Given the description of an element on the screen output the (x, y) to click on. 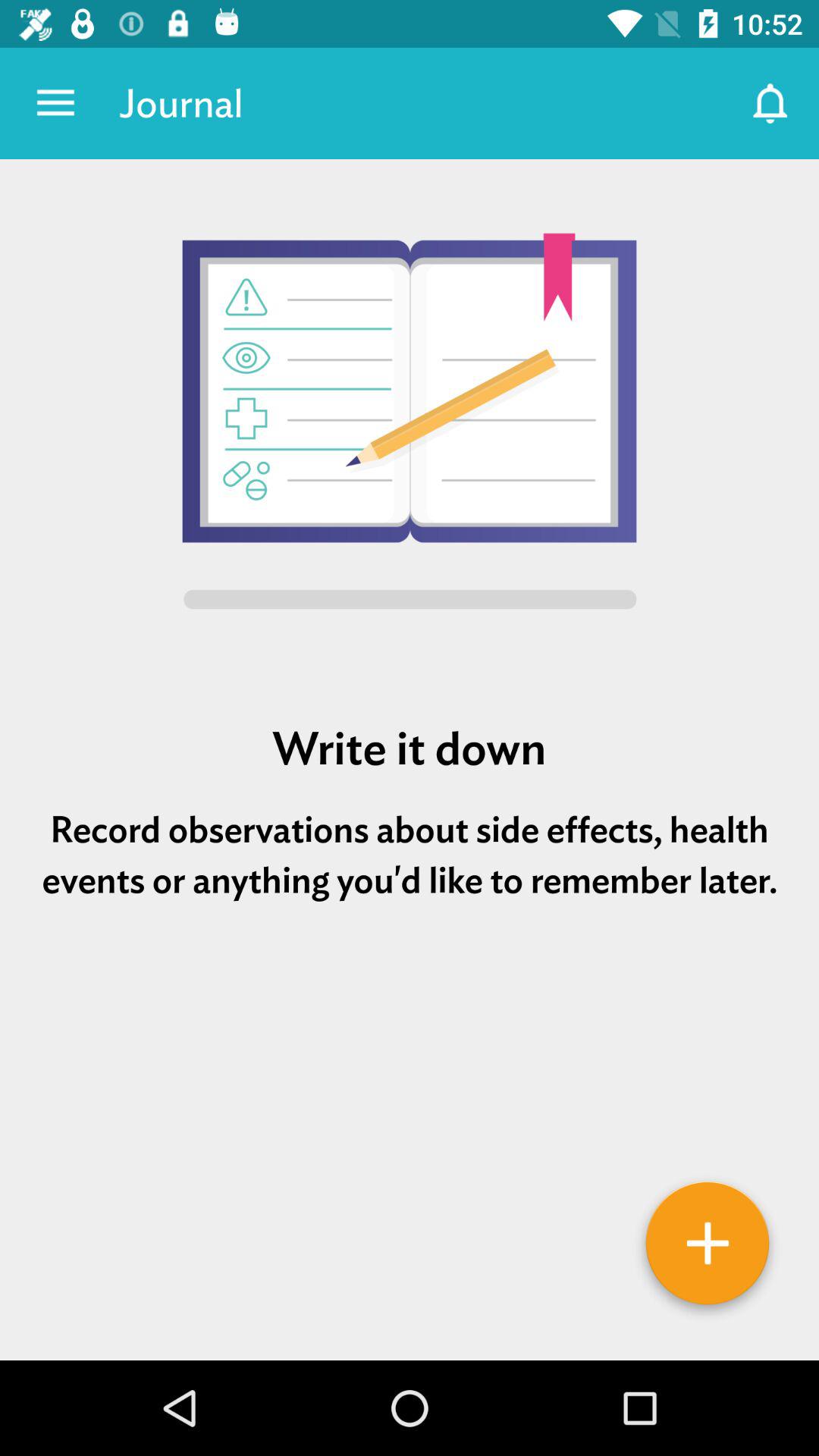
select icon above the write it down (409, 423)
